Given the description of an element on the screen output the (x, y) to click on. 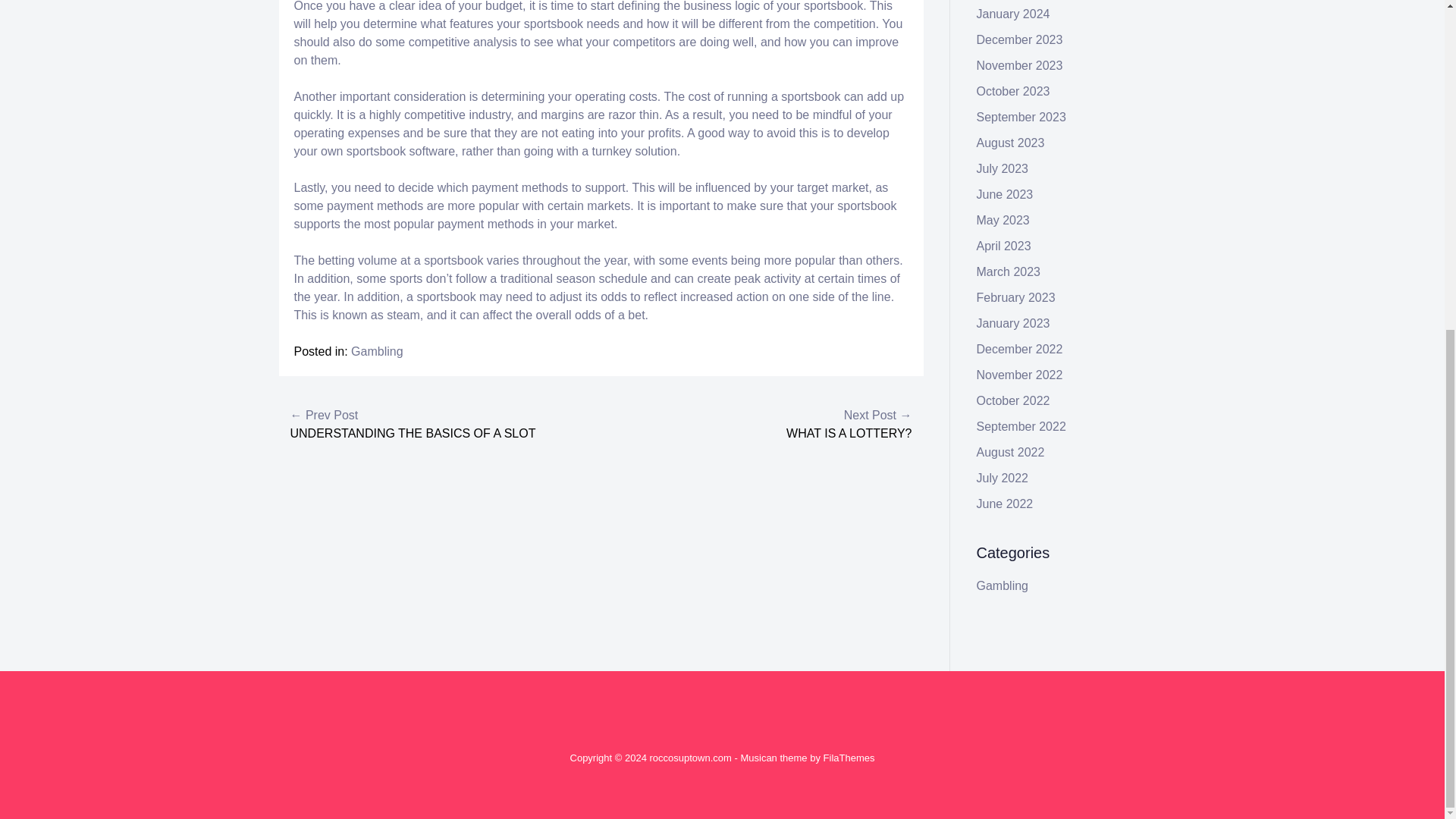
June 2022 (1004, 503)
February 2023 (1015, 297)
August 2022 (1010, 451)
March 2023 (1008, 271)
October 2022 (1012, 400)
April 2023 (1003, 245)
Gambling (376, 350)
FilaThemes (849, 757)
November 2022 (1019, 374)
January 2023 (1012, 323)
